Given the description of an element on the screen output the (x, y) to click on. 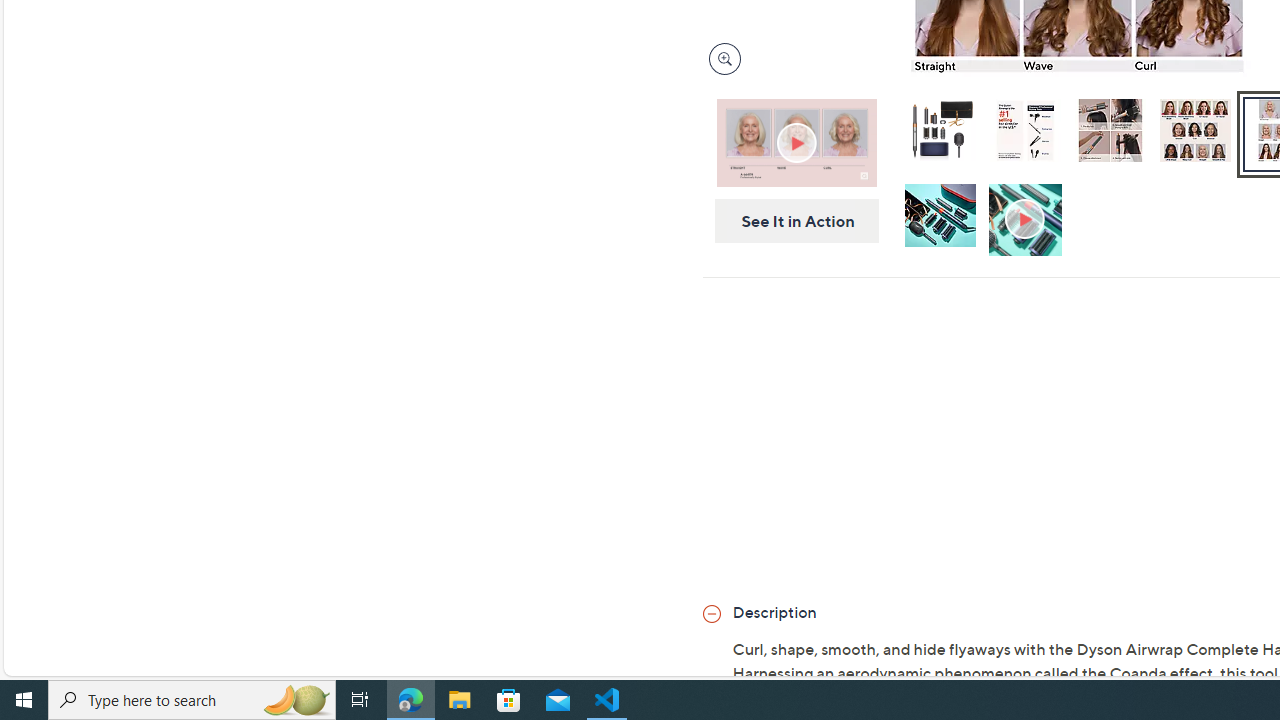
Dyson Airwrap Complete with Paddle Brush and Travel Pouch (939, 129)
See It in Action (790, 221)
Zoom product image, opens image gallery dialog (719, 59)
Magnify Image (724, 57)
On-Air Presentation (795, 142)
Dyson Airwrap Complete with Paddle Brush and Travel Pouch (939, 133)
How to Use (1027, 219)
